Given the description of an element on the screen output the (x, y) to click on. 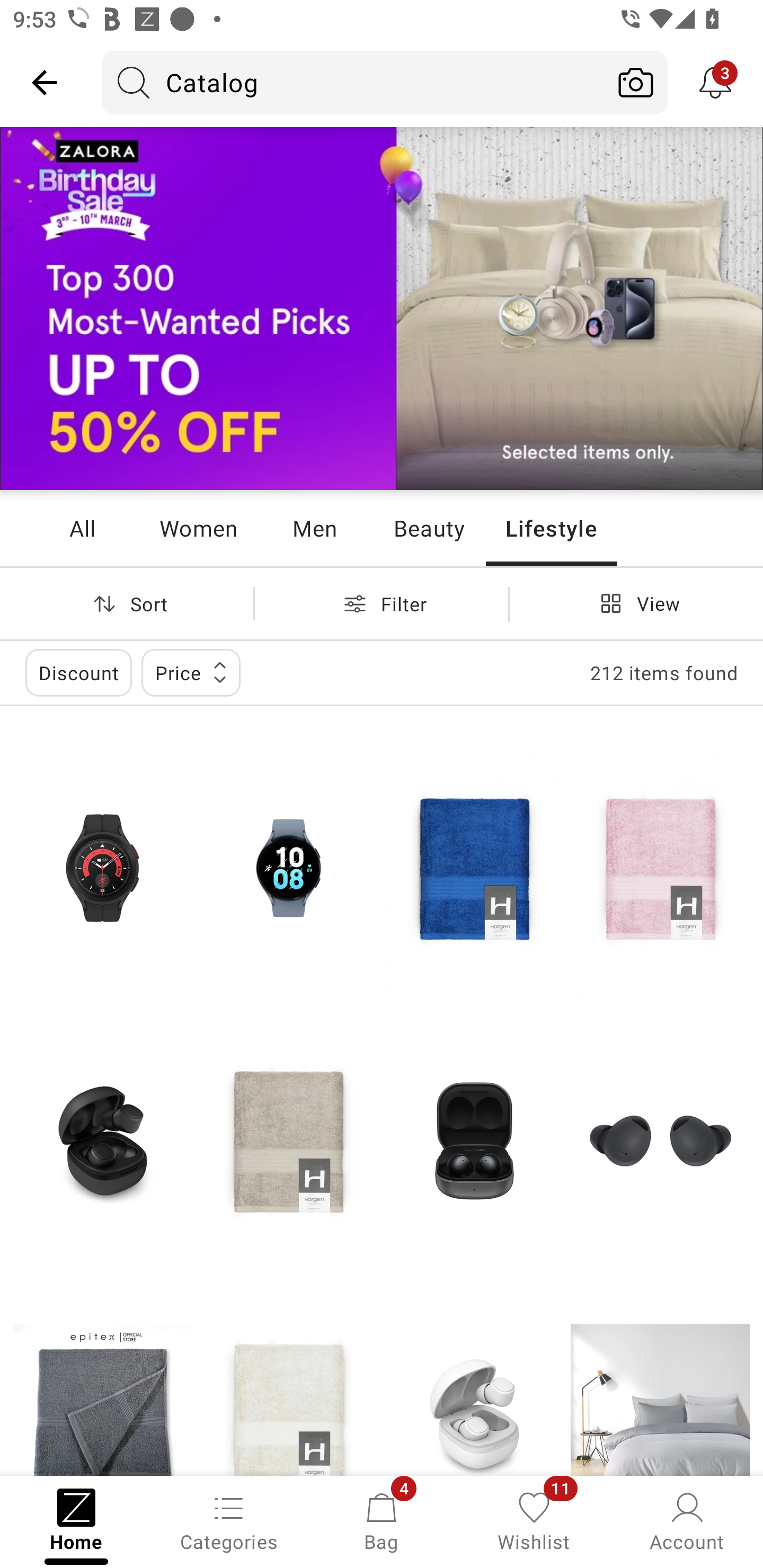
Navigate up (44, 82)
Catalog (352, 82)
All (82, 527)
Women (198, 527)
Men (314, 527)
Beauty (428, 527)
Sort (126, 603)
Filter (381, 603)
View (636, 603)
Discount (78, 672)
Price (190, 672)
Categories (228, 1519)
Bag, 4 new notifications Bag (381, 1519)
Wishlist, 11 new notifications Wishlist (533, 1519)
Account (686, 1519)
